Given the description of an element on the screen output the (x, y) to click on. 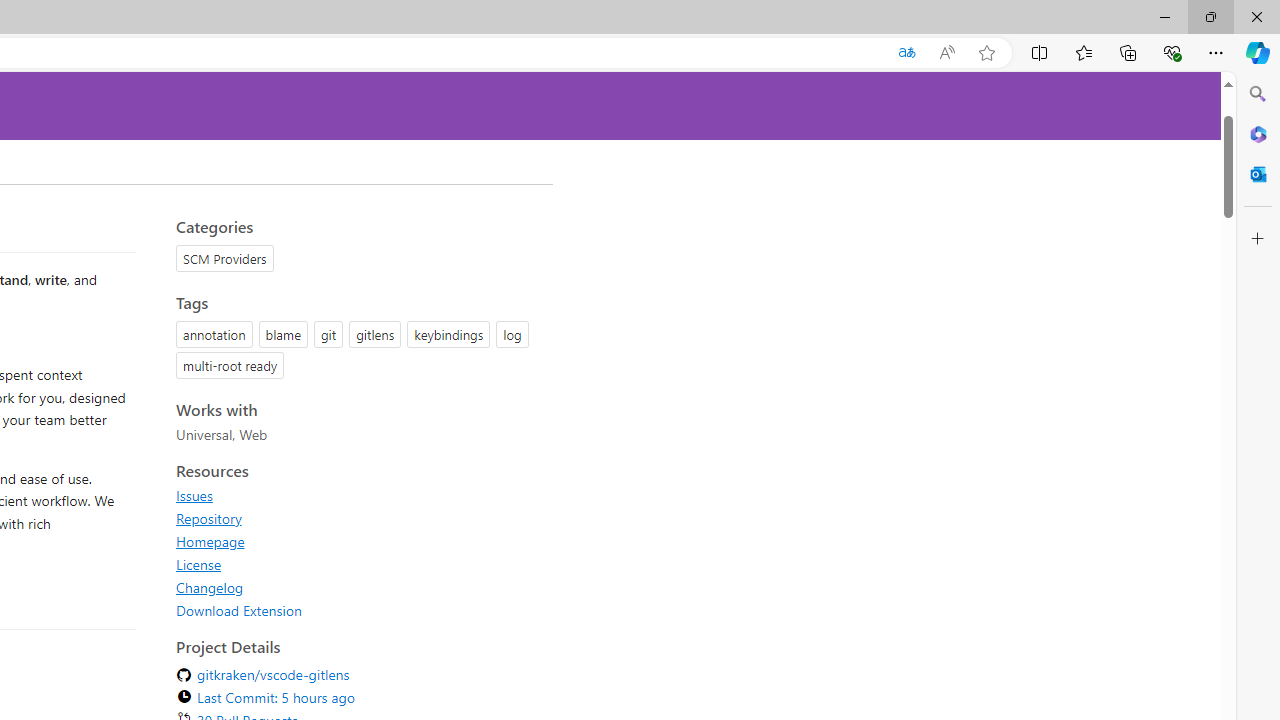
Repository (358, 518)
Issues (358, 495)
License (358, 564)
